Given the description of an element on the screen output the (x, y) to click on. 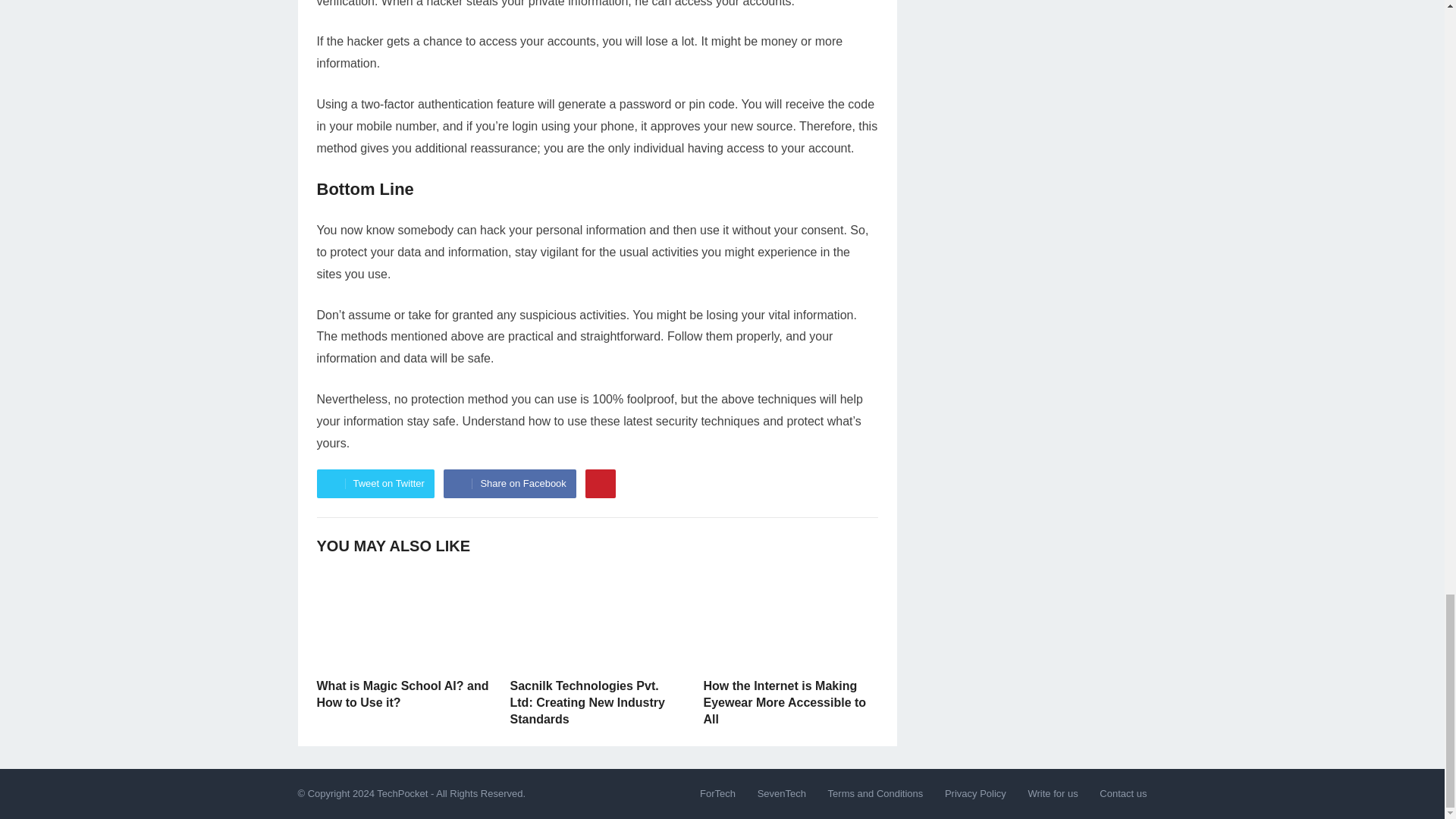
How the Internet is Making Eyewear More Accessible to All (784, 701)
What is Magic School AI? and How to Use it? (403, 694)
Pinterest (600, 483)
Share on Facebook (509, 483)
Tweet on Twitter (375, 483)
